Given the description of an element on the screen output the (x, y) to click on. 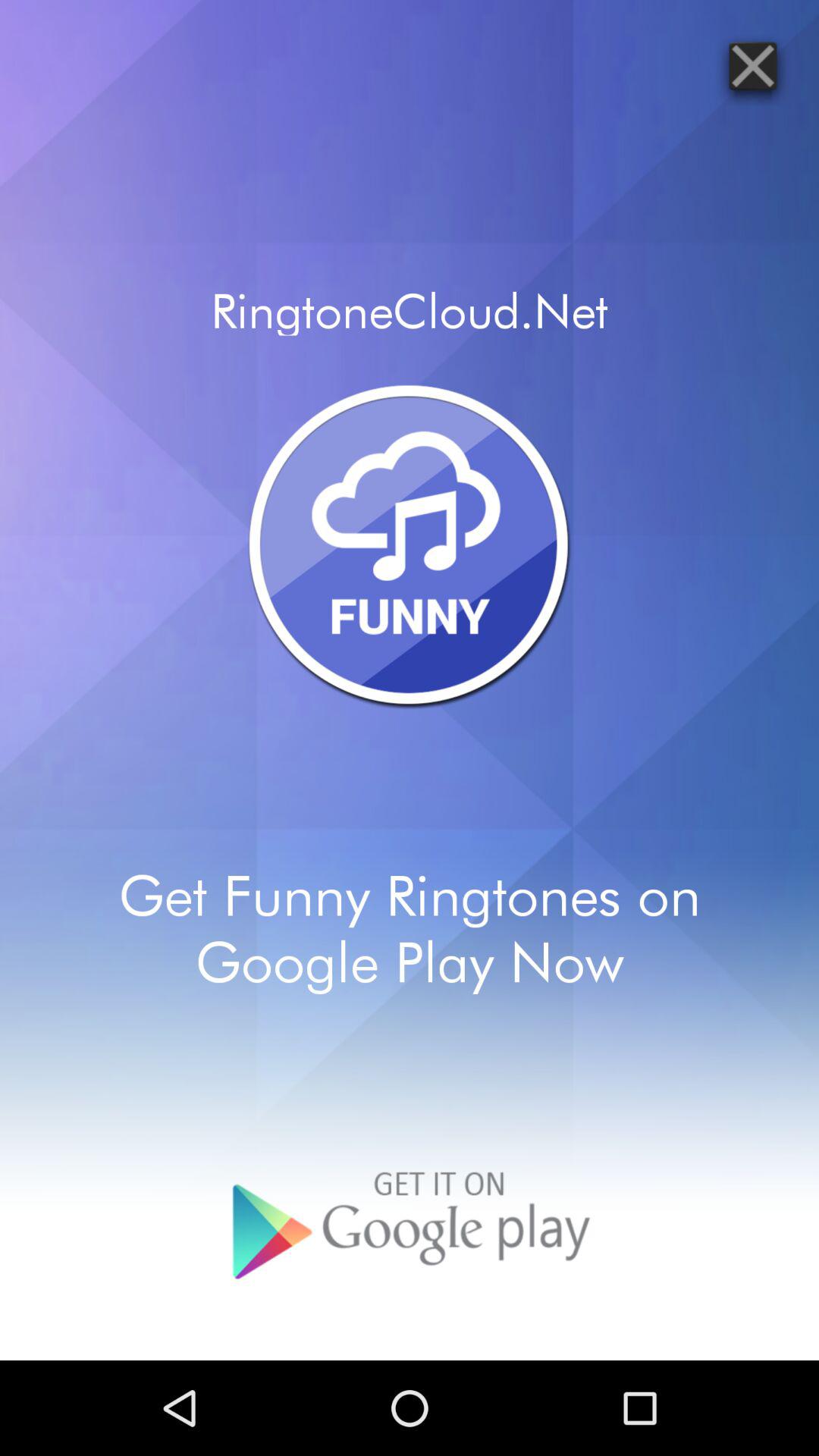
launch icon at the top right corner (752, 65)
